Given the description of an element on the screen output the (x, y) to click on. 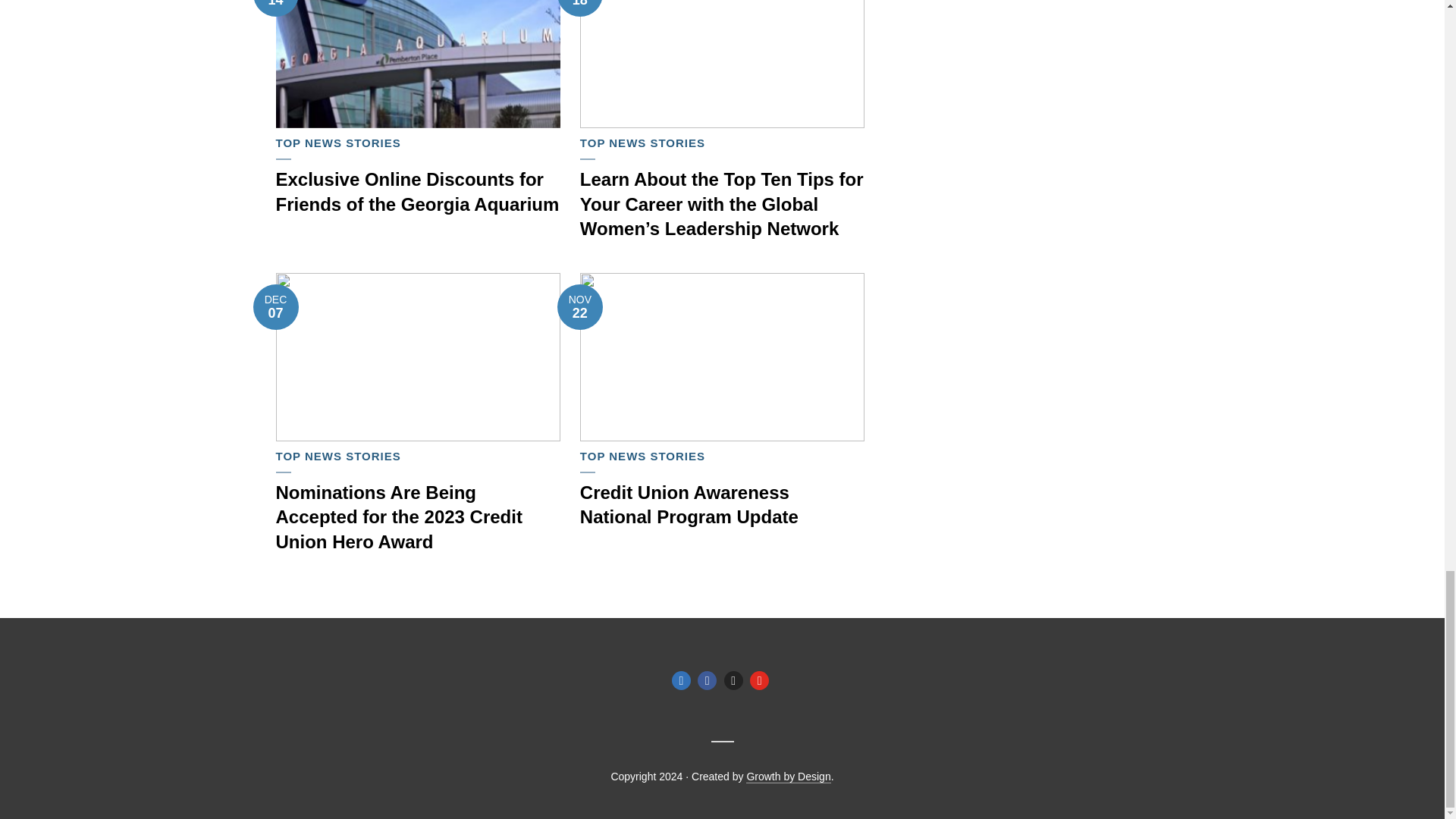
YouTube (758, 680)
Linkedin (680, 680)
Facebook (706, 680)
